Given the description of an element on the screen output the (x, y) to click on. 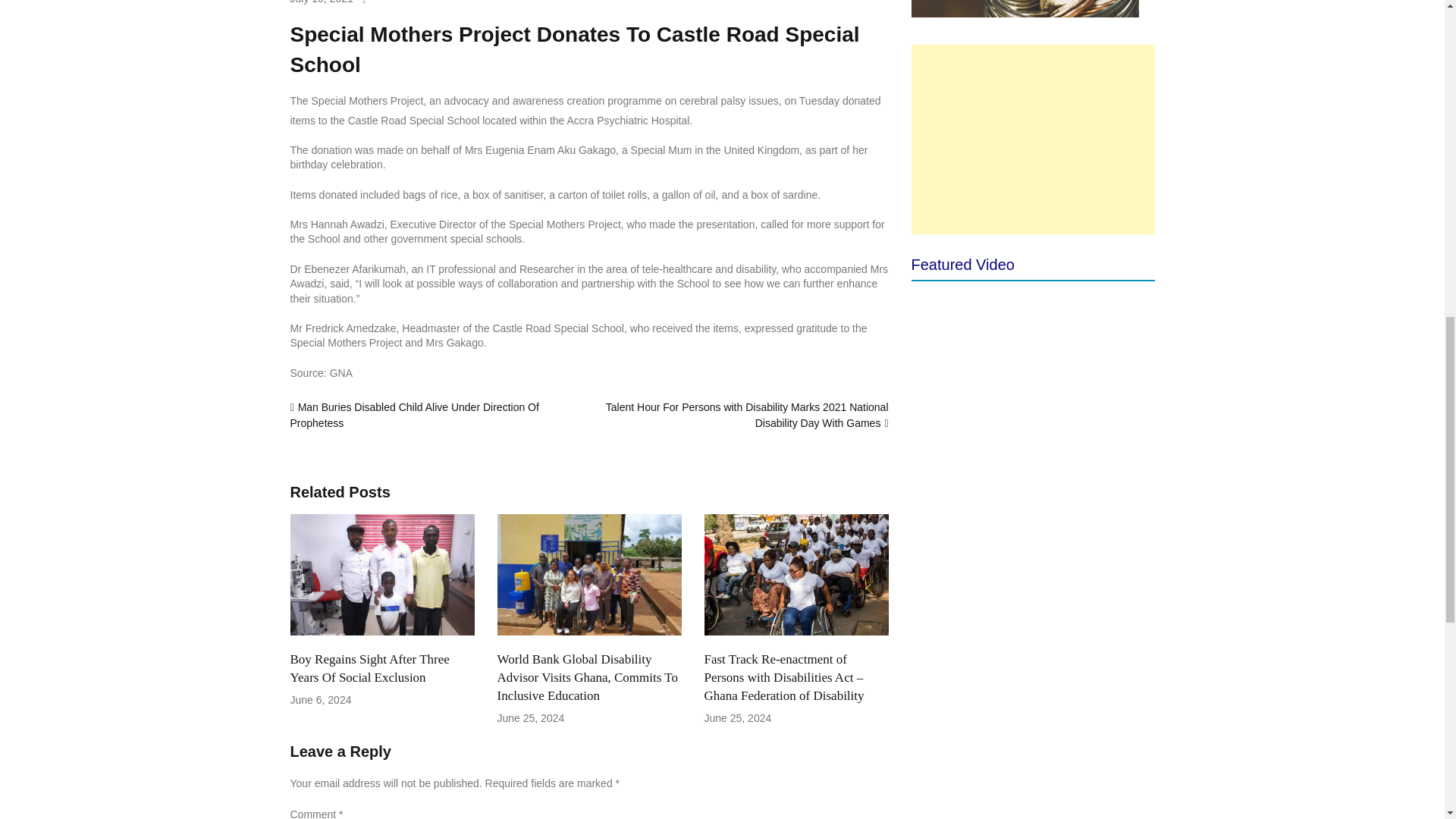
July 10, 2021 (320, 3)
Boy Regains Sight After Three Years Of Social Exclusion   (368, 667)
